Given the description of an element on the screen output the (x, y) to click on. 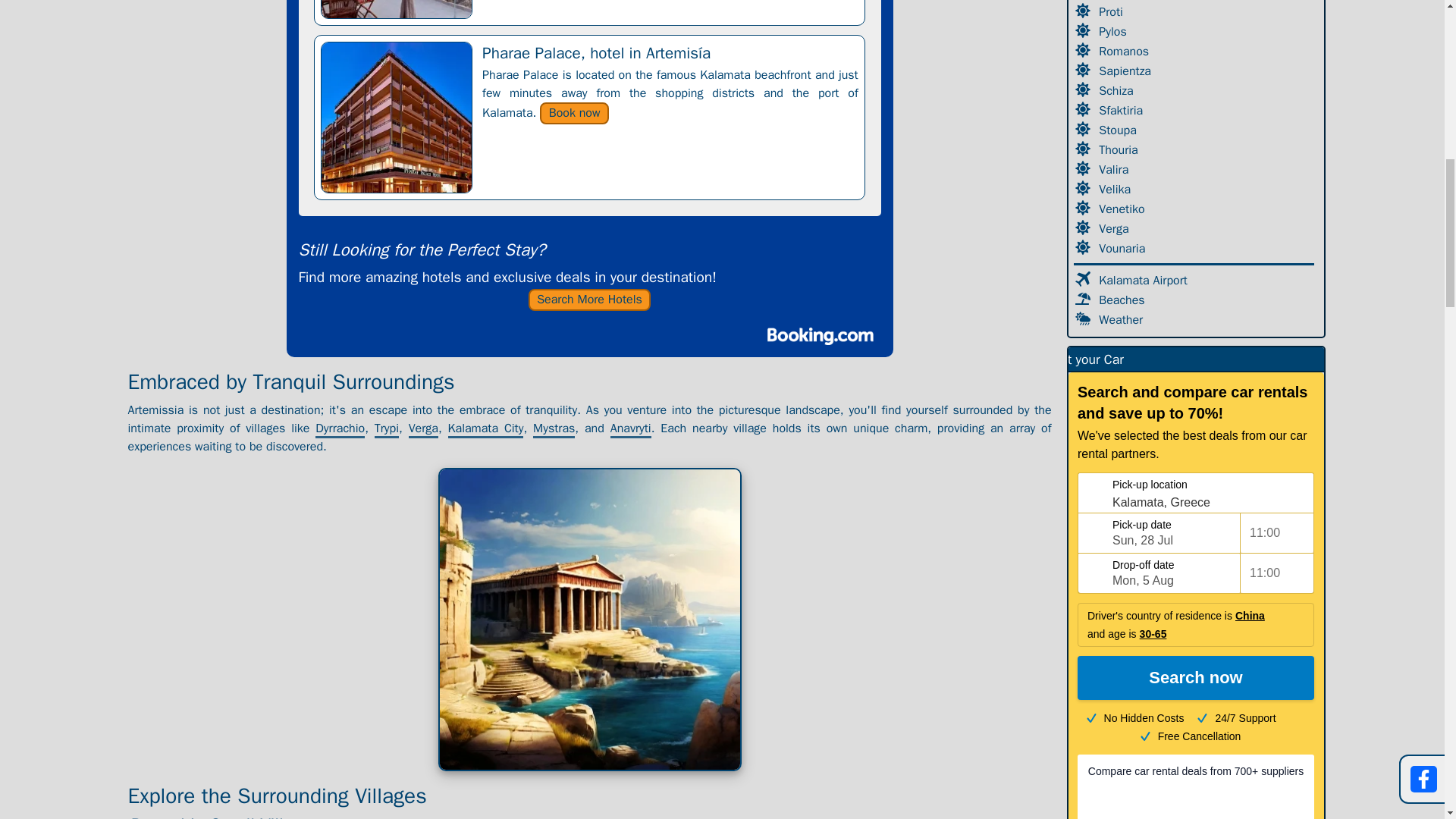
Verga (423, 428)
Dyrrachio (340, 428)
Kalamata City (486, 428)
Trypi (386, 428)
Mystras (553, 428)
Anavryti (630, 428)
